Given the description of an element on the screen output the (x, y) to click on. 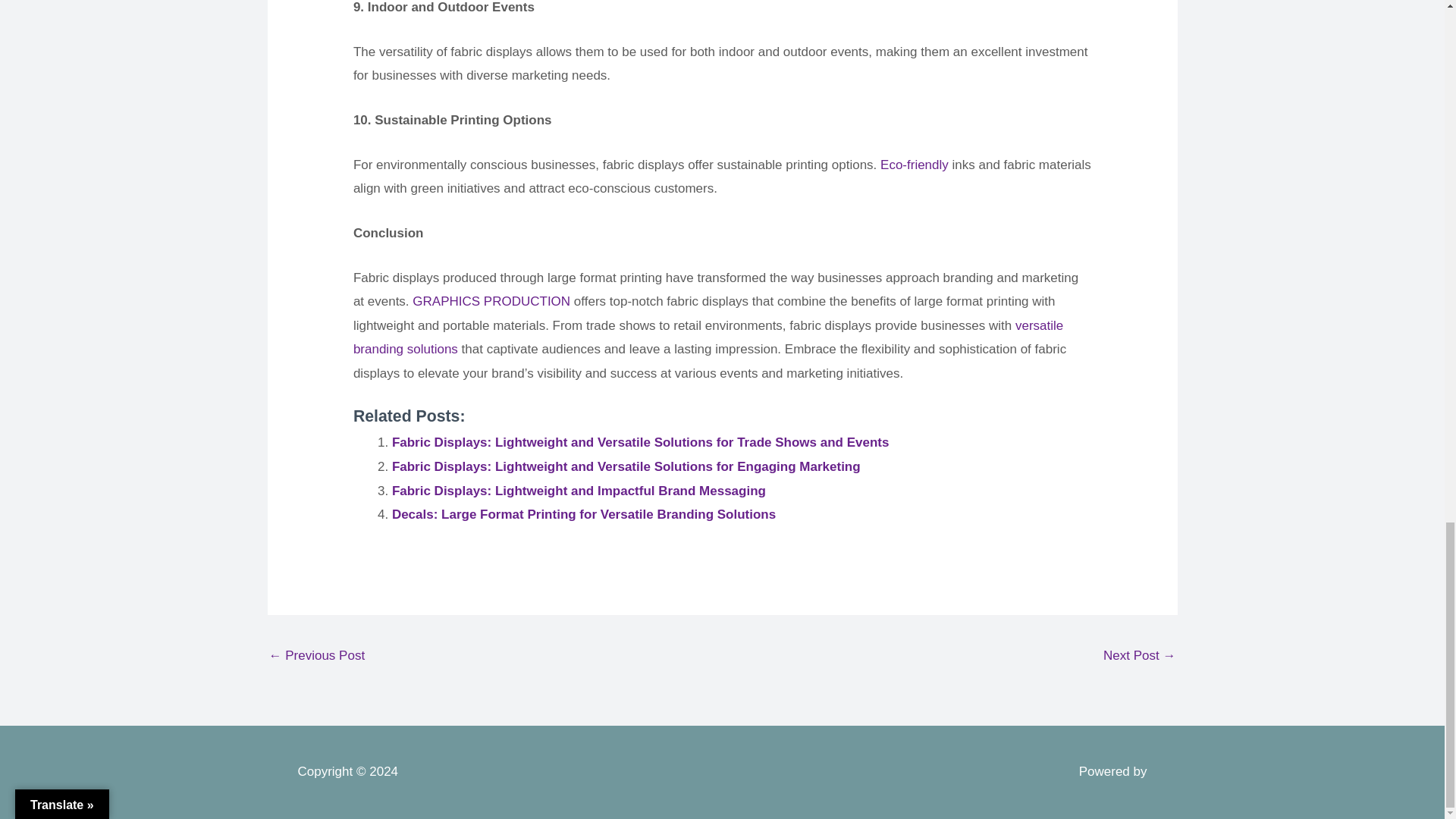
Fabric Displays: Lightweight and Impactful Brand Messaging (578, 490)
versatile branding solutions (707, 337)
Fabric Displays: Lightweight and Impactful Brand Messaging (578, 490)
GRAPHICS PRODUCTION (491, 301)
Eco-friendly (914, 164)
